Given the description of an element on the screen output the (x, y) to click on. 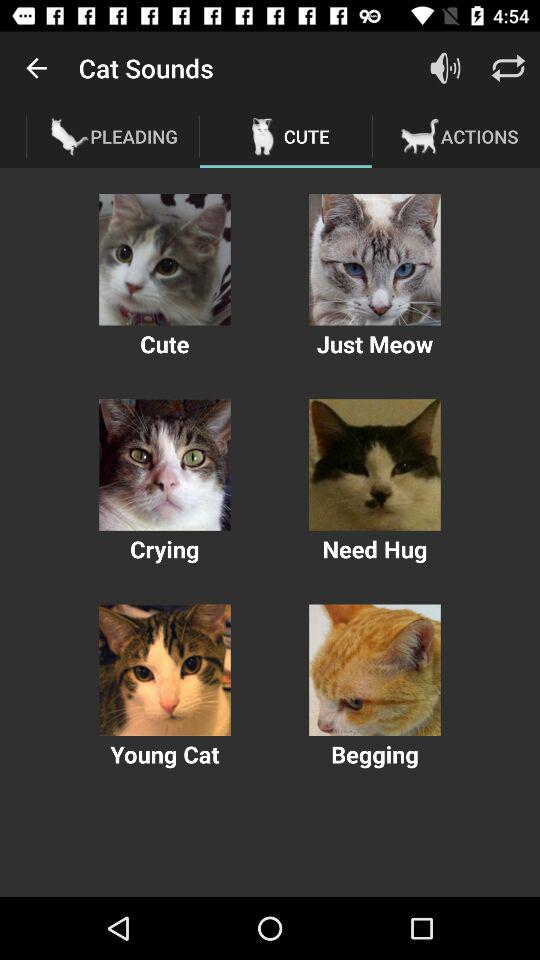
select option (374, 669)
